Given the description of an element on the screen output the (x, y) to click on. 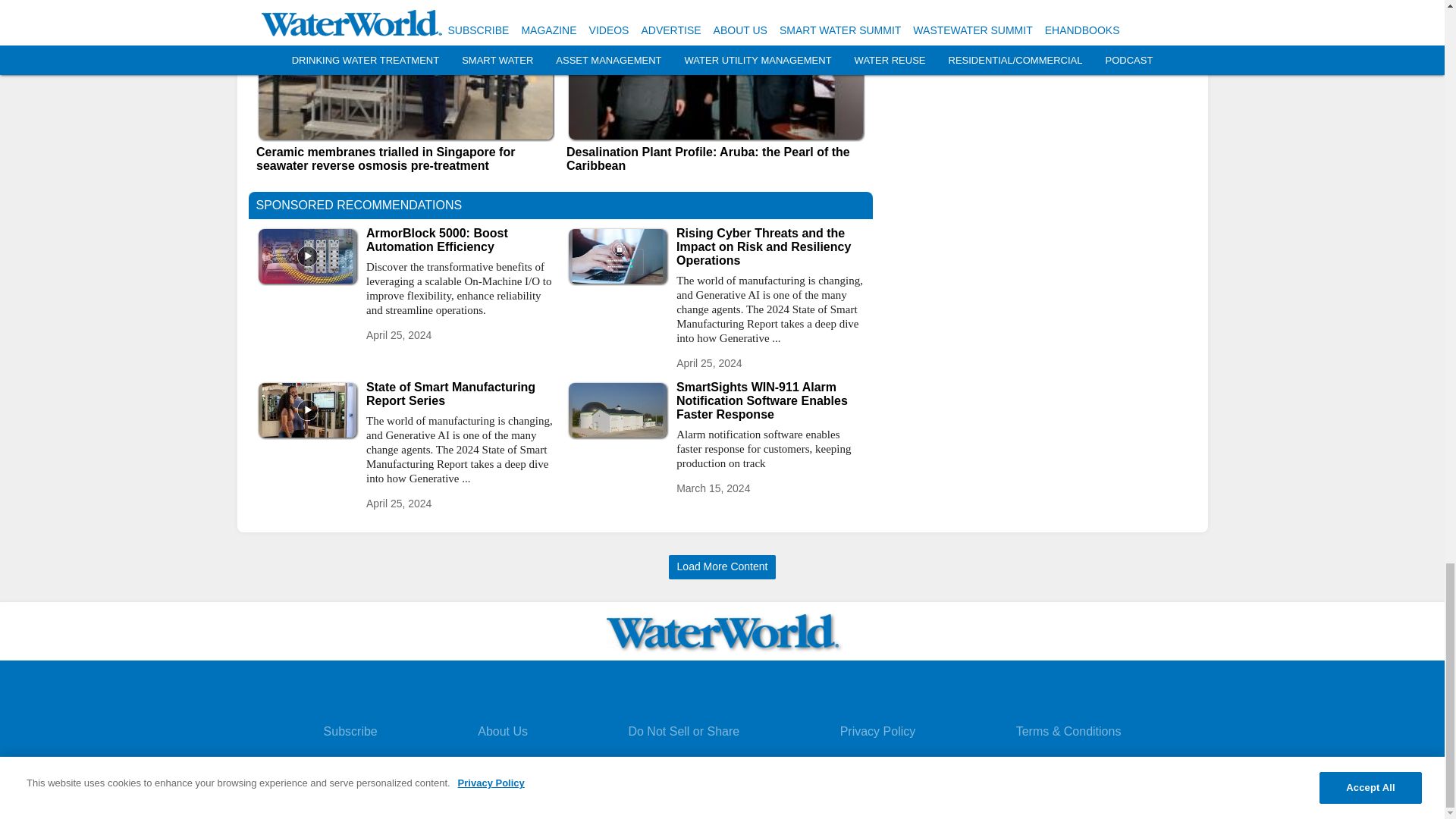
State of Smart Manufacturing Report Series (459, 393)
ArmorBlock 5000: Boost Automation Efficiency (459, 239)
